Given the description of an element on the screen output the (x, y) to click on. 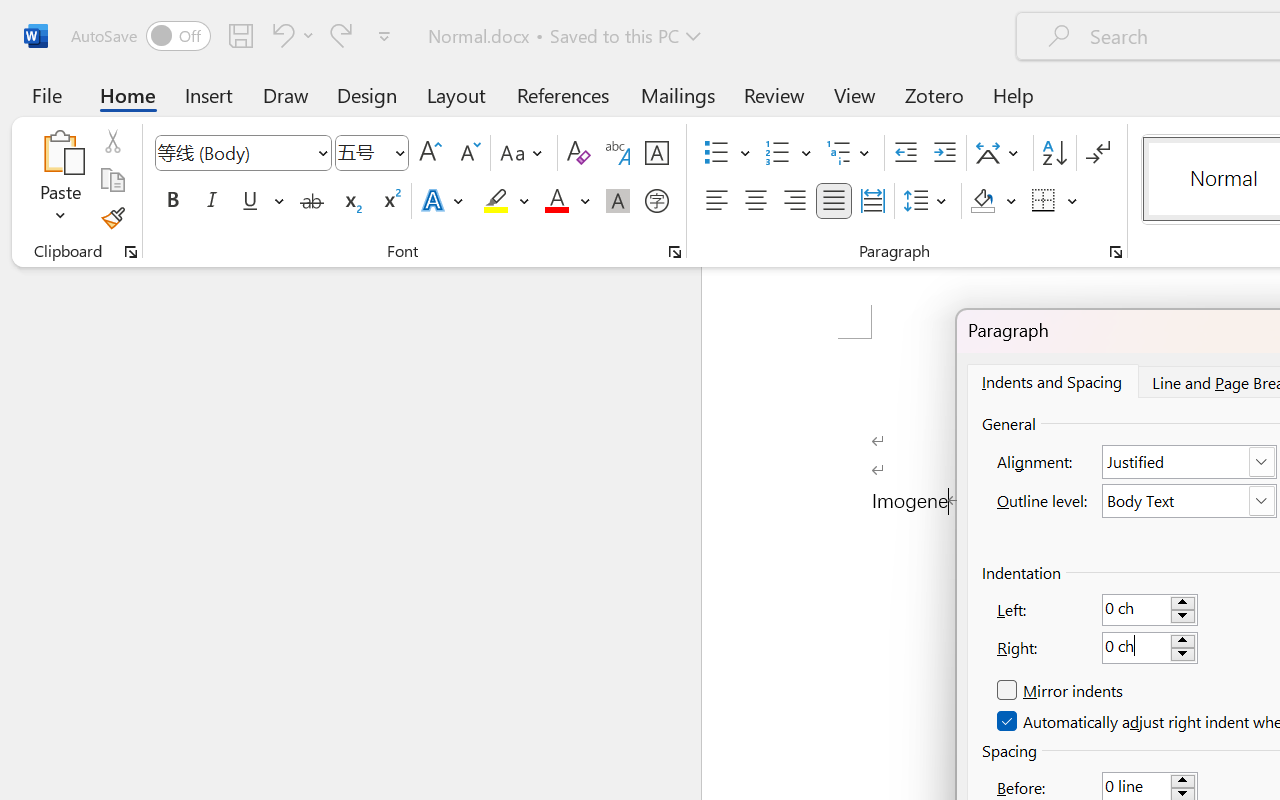
Outline level: (1189, 501)
Character Shading (618, 201)
Strikethrough (312, 201)
Alignment: (1189, 461)
Clear Formatting (578, 153)
Text Effects and Typography (444, 201)
Office Clipboard... (131, 252)
